Given the description of an element on the screen output the (x, y) to click on. 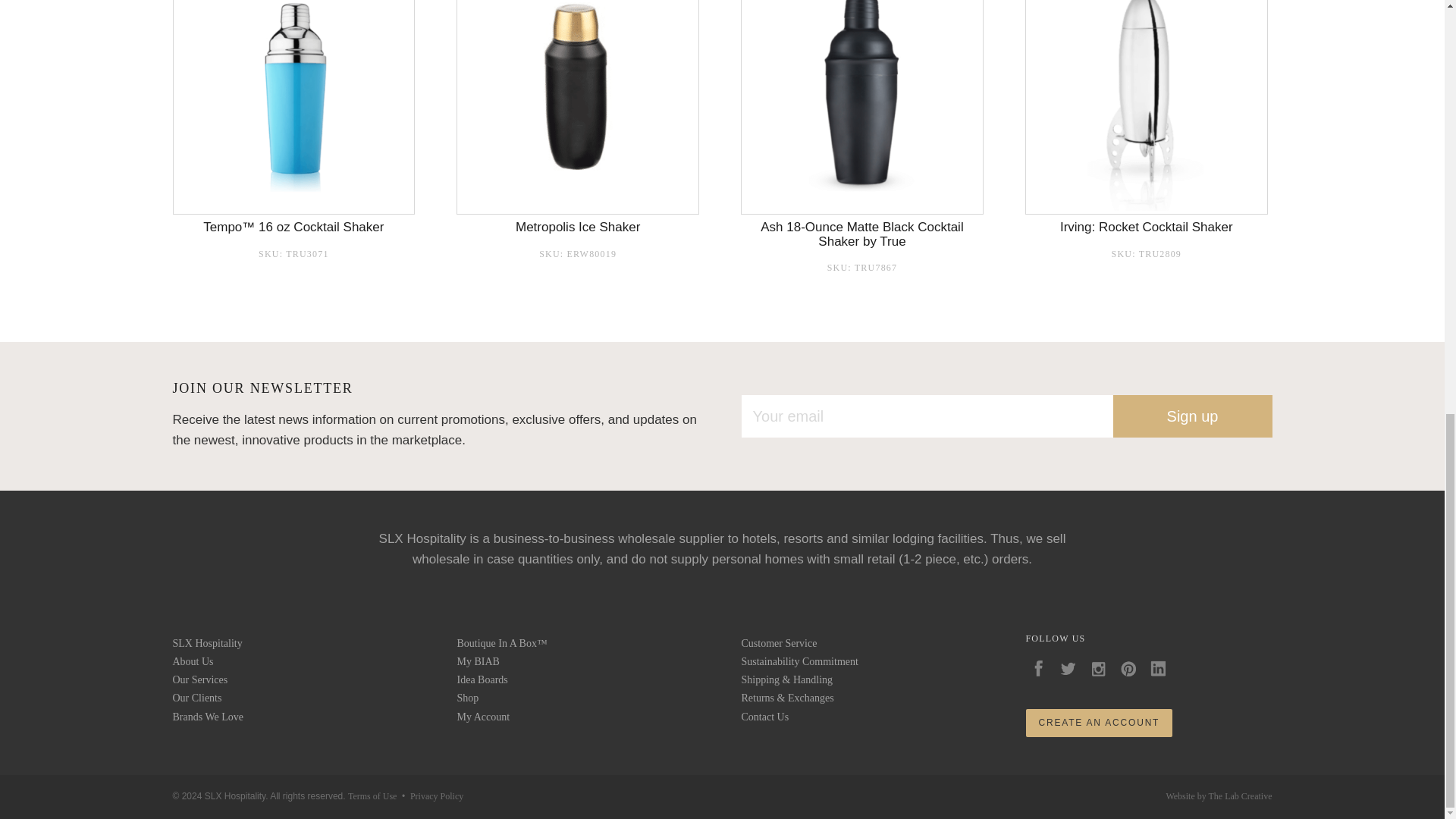
Sign up (1192, 415)
